Given the description of an element on the screen output the (x, y) to click on. 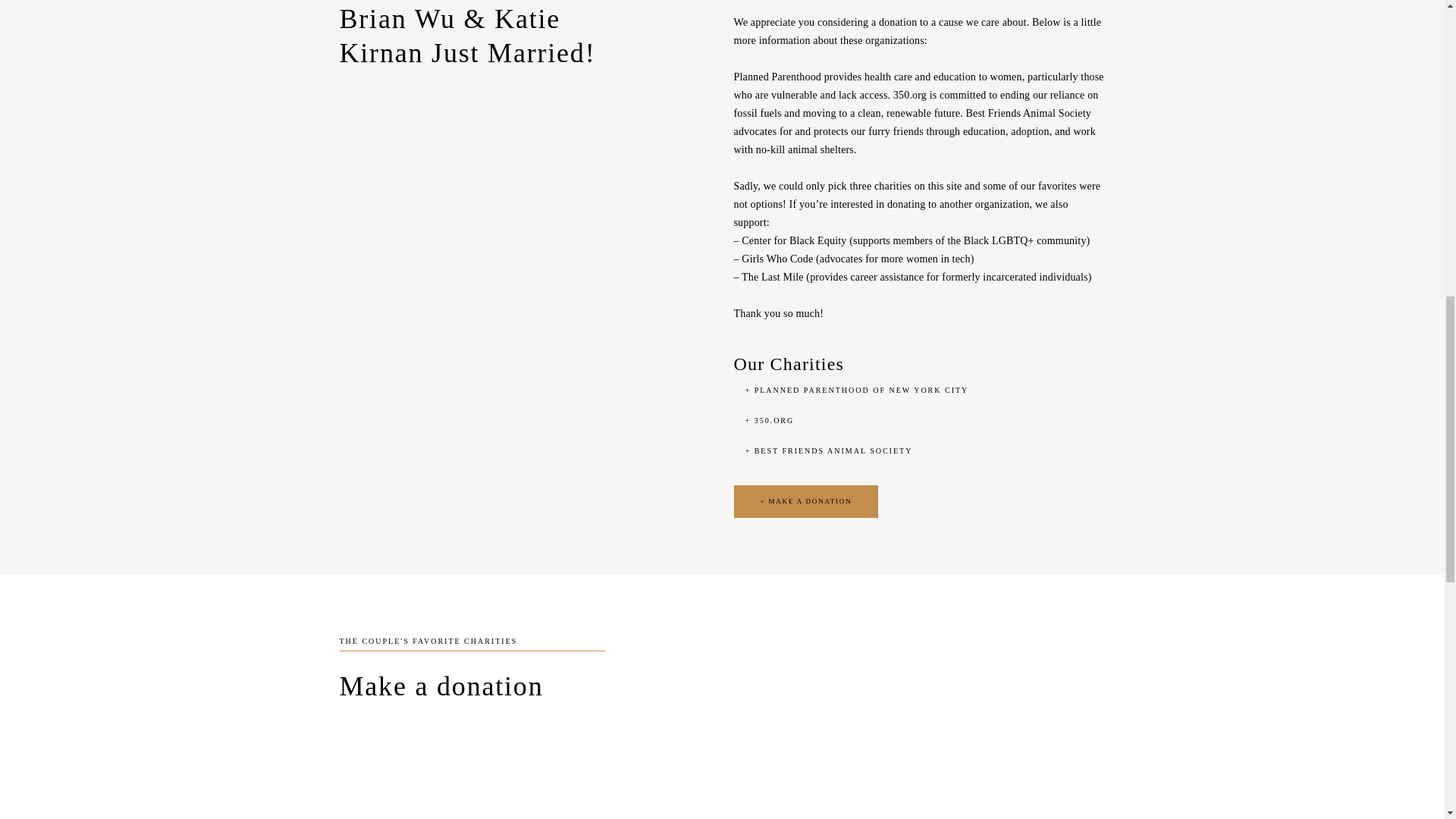
350.ORG (768, 420)
PLANNED PARENTHOOD OF NEW YORK CITY (856, 390)
BEST FRIENDS ANIMAL SOCIETY (828, 450)
MAKE A DONATION (806, 501)
